Given the description of an element on the screen output the (x, y) to click on. 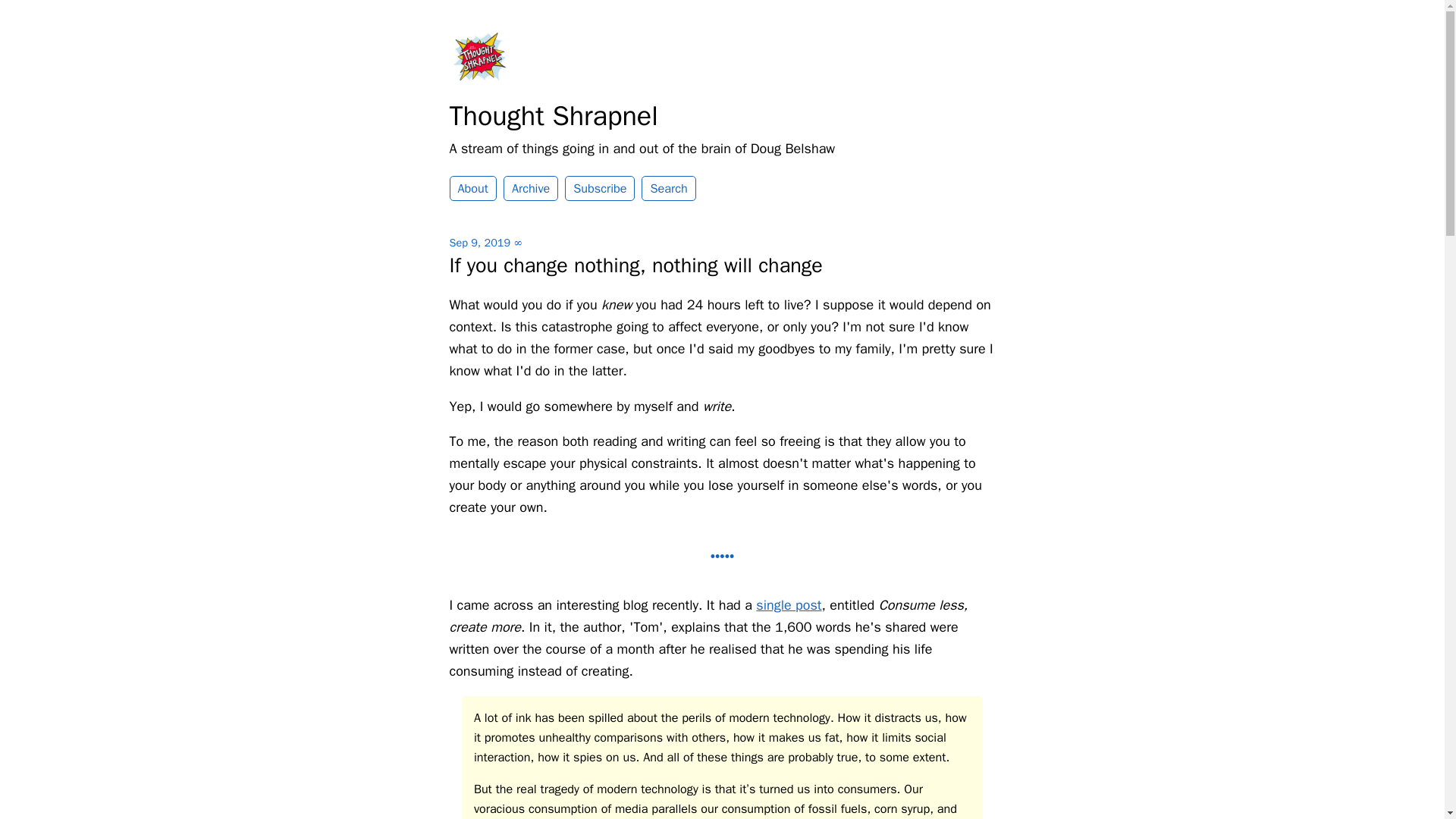
About (472, 188)
Archive (530, 188)
